Given the description of an element on the screen output the (x, y) to click on. 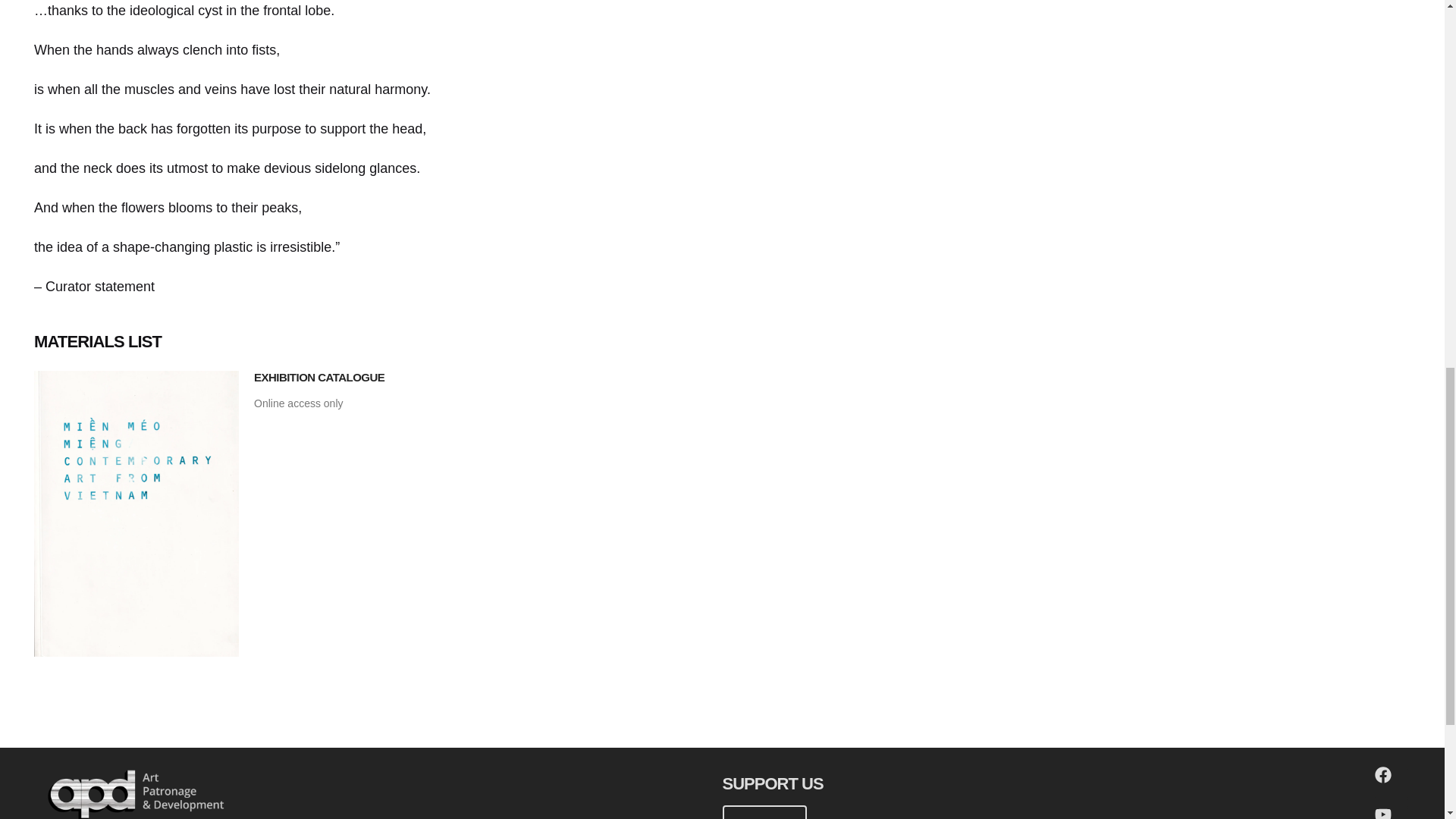
EXHIBITION CATALOGUE (318, 377)
See more (764, 812)
